Given the description of an element on the screen output the (x, y) to click on. 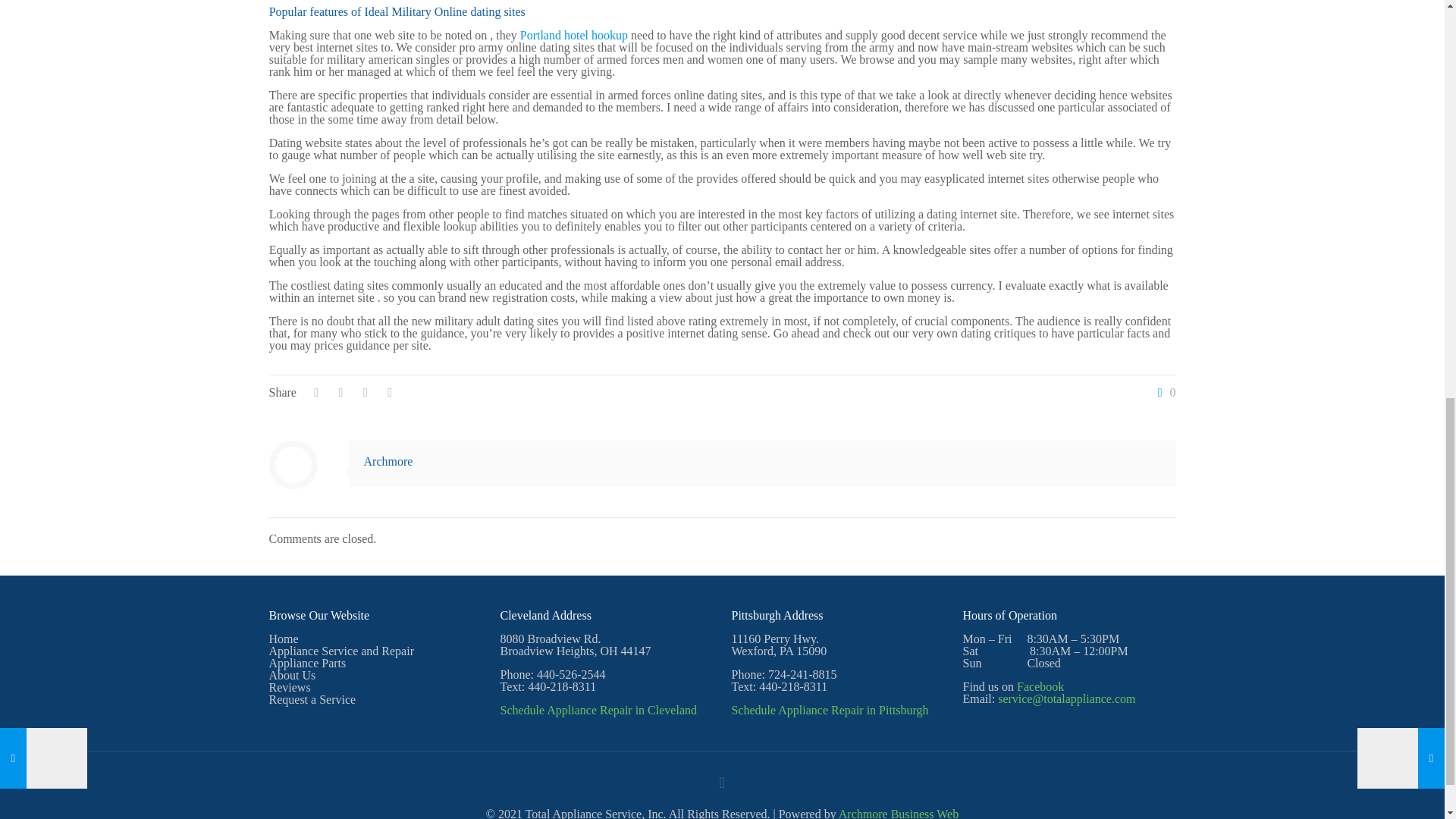
Facebook (1040, 686)
Schedule Appliance Repair in Cleveland (598, 709)
0 (1162, 392)
Portland hotel hookup (573, 34)
Schedule Appliance Repair in Pittsburgh (829, 709)
Archmore Business Web (898, 813)
Archmore (388, 461)
